Given the description of an element on the screen output the (x, y) to click on. 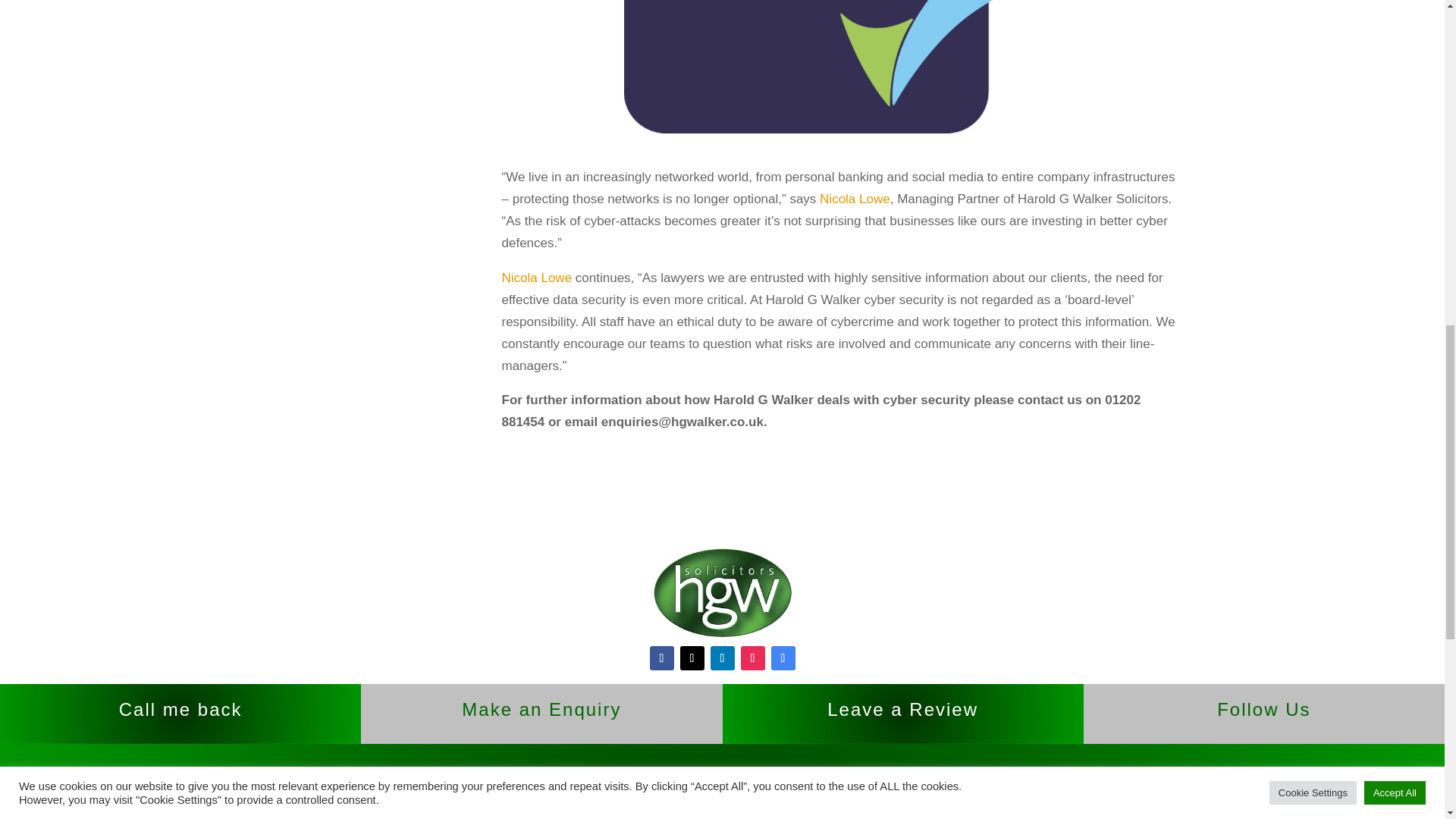
HGW-logo-less-than-100kb-removebg-preview (721, 592)
Follow on Google (782, 658)
Follow on Instagram (751, 658)
Follow on Facebook (660, 658)
Follow on LinkedIn (721, 658)
Follow on Twitter (691, 658)
